Given the description of an element on the screen output the (x, y) to click on. 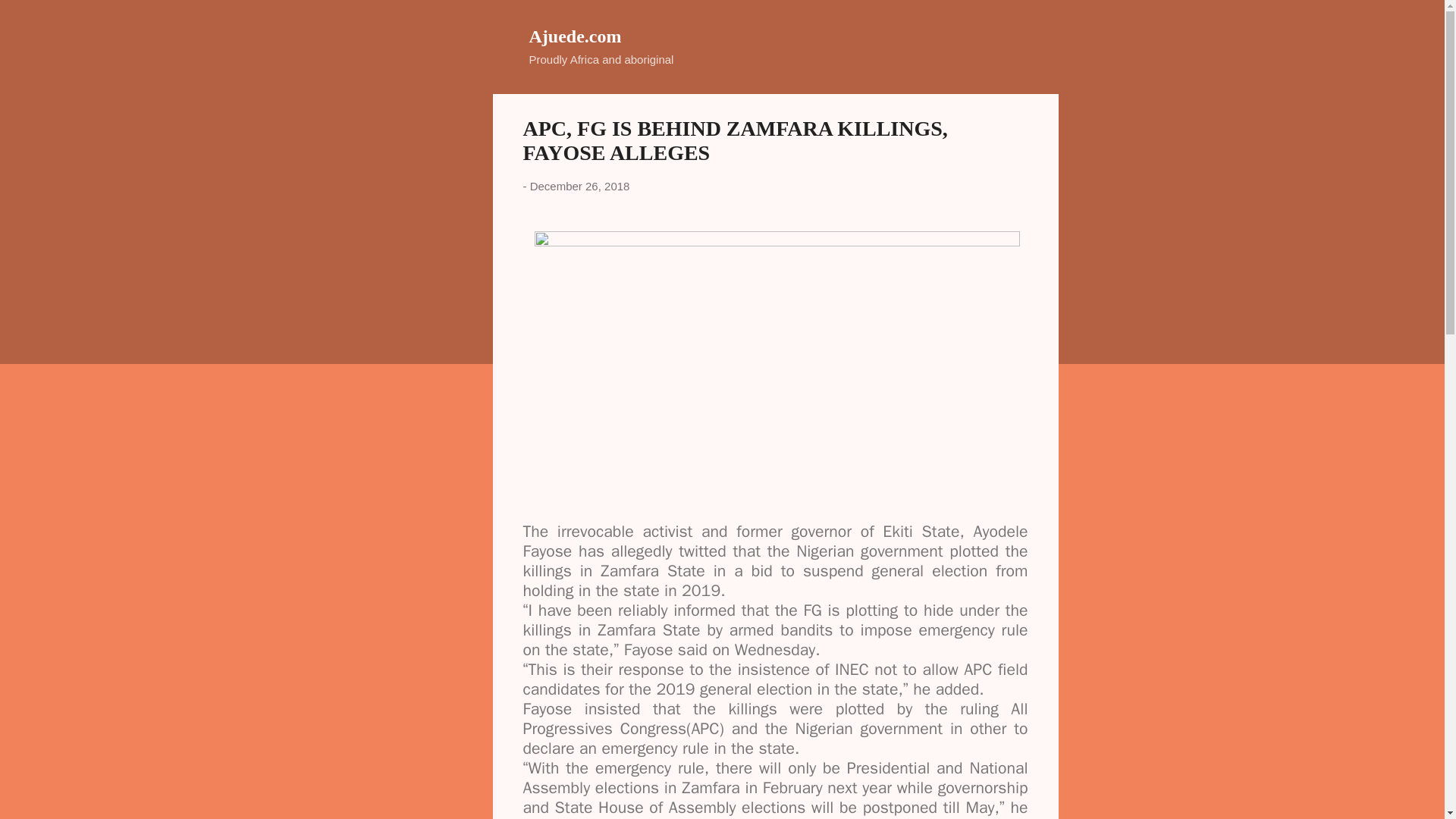
permanent link (579, 185)
December 26, 2018 (579, 185)
Search (29, 18)
Ajuede.com (575, 35)
